Given the description of an element on the screen output the (x, y) to click on. 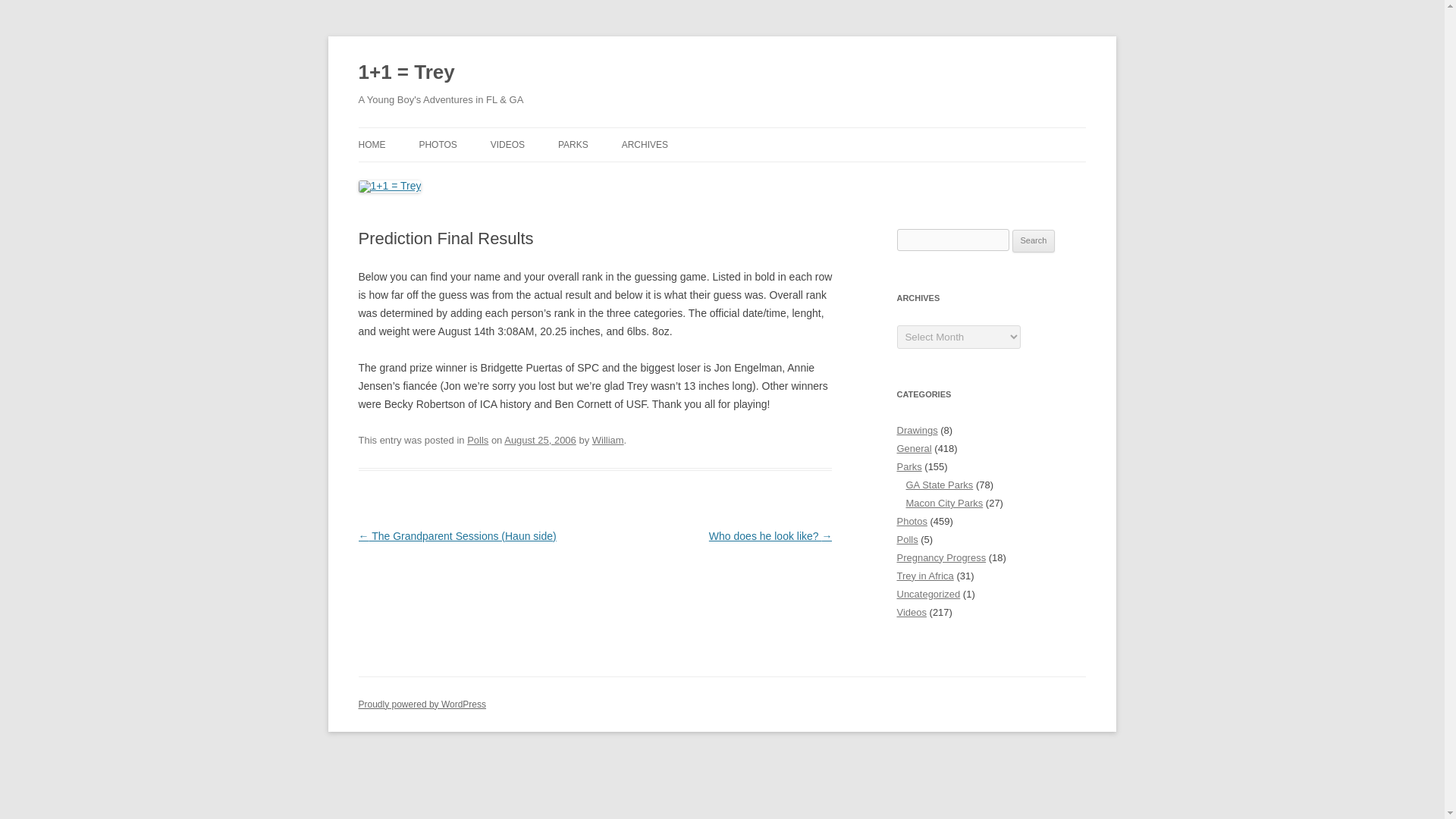
Uncategorized (927, 593)
Drawings (916, 430)
12:48 am (539, 439)
Polls (477, 439)
Polls (906, 539)
View all posts by William (608, 439)
Search (1033, 241)
Macon City Parks (943, 502)
PARKS (572, 144)
Search (1033, 241)
Videos (911, 612)
Photos (911, 521)
VIDEOS (507, 144)
William (608, 439)
Parks (908, 466)
